Given the description of an element on the screen output the (x, y) to click on. 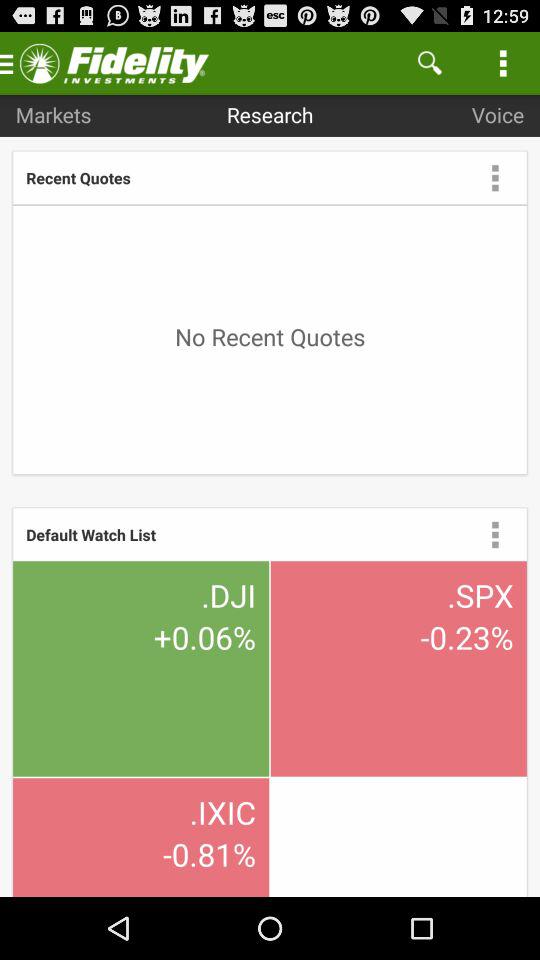
turn off item above voice icon (503, 62)
